Given the description of an element on the screen output the (x, y) to click on. 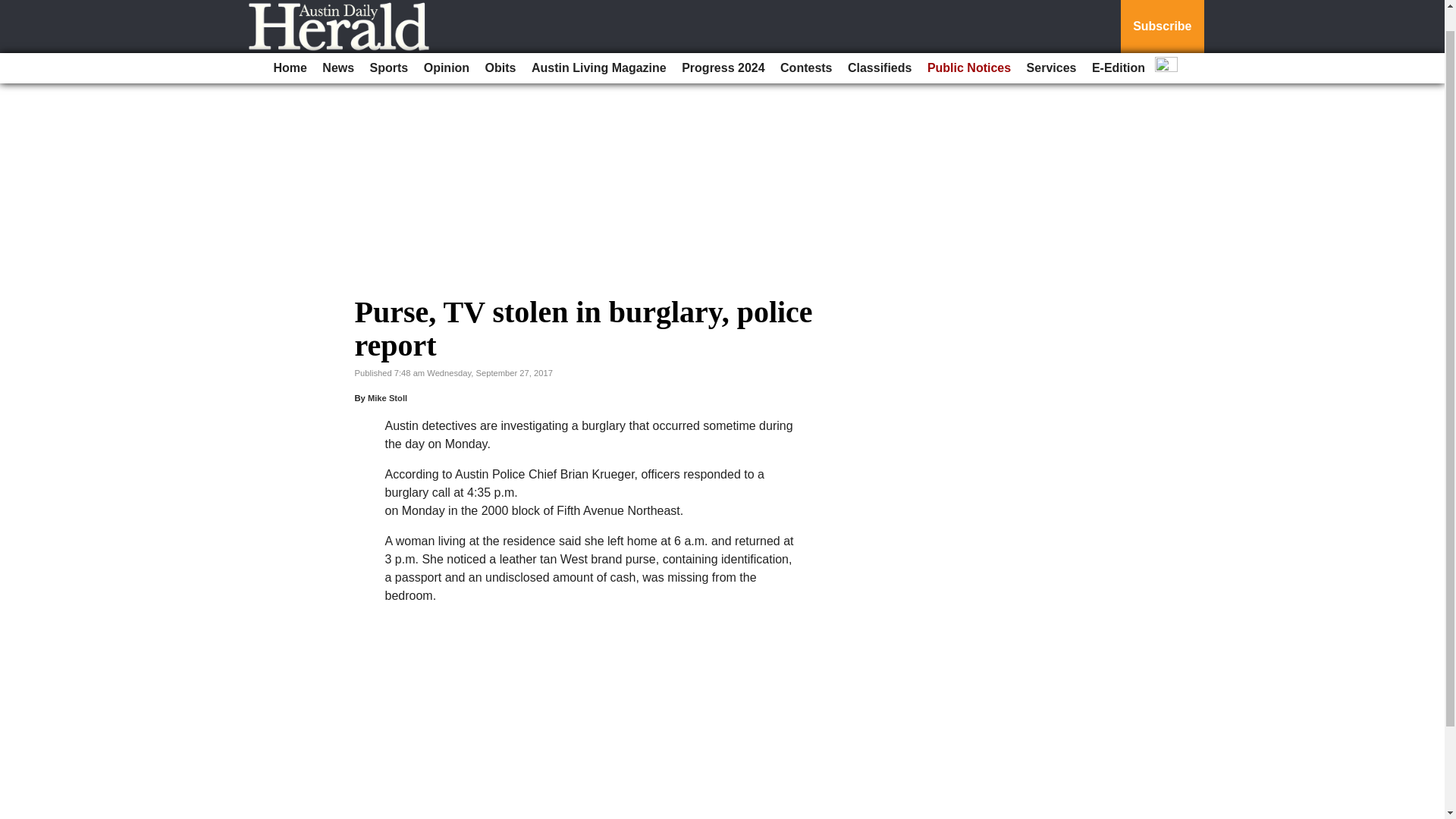
Progress 2024 (722, 44)
Obits (500, 44)
Classifieds (879, 44)
Home (289, 44)
Contests (806, 44)
Austin Living Magazine (598, 44)
Subscribe (1162, 14)
Public Notices (968, 44)
Opinion (446, 44)
Sports (389, 44)
News (337, 44)
Services (1051, 44)
